Given the description of an element on the screen output the (x, y) to click on. 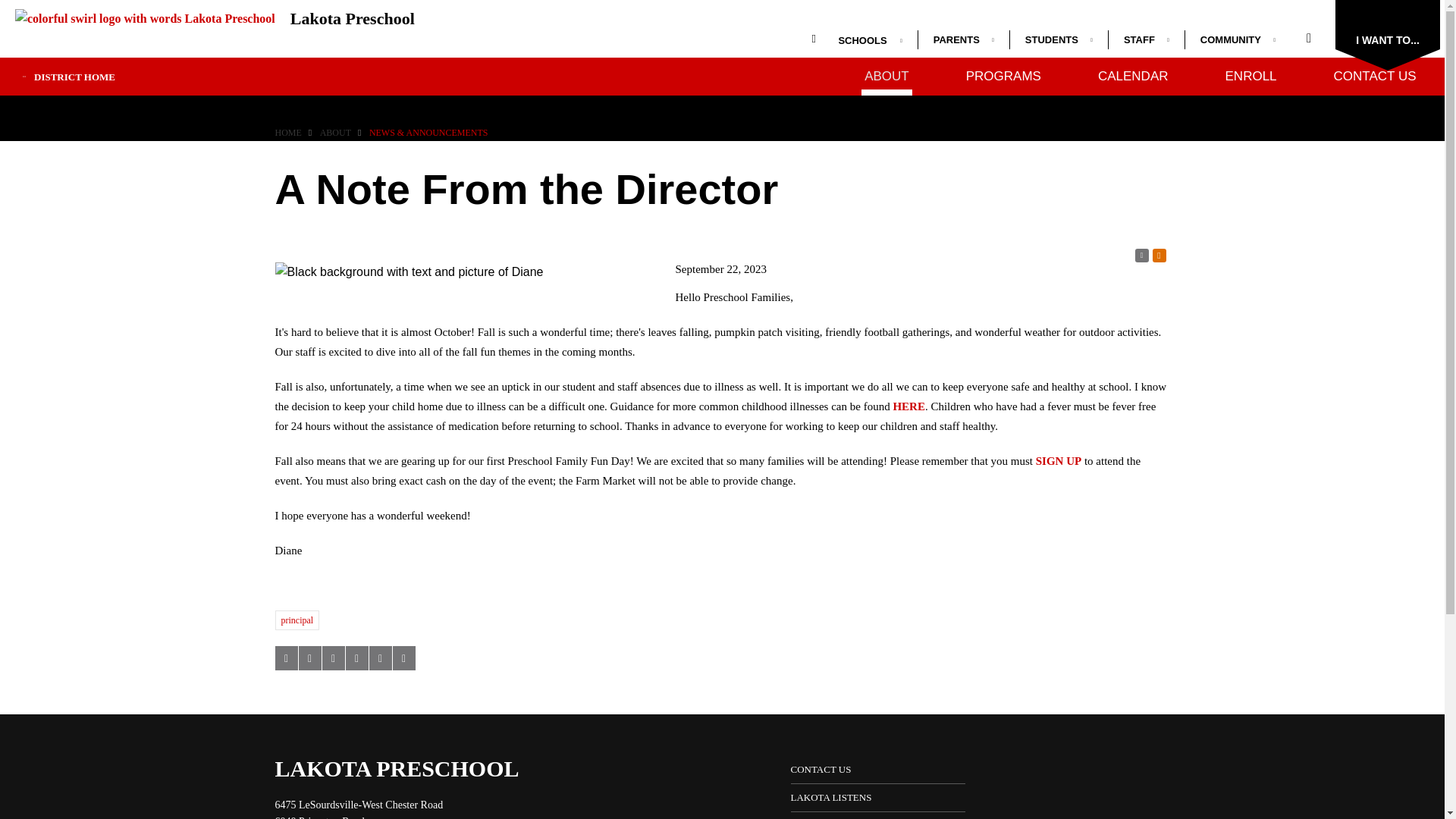
Share to LinkedIn (332, 658)
Alerts (1159, 255)
RSS (1141, 255)
Share to Pinterest (357, 658)
Share to Email (379, 658)
Print this page (403, 658)
Share to Facebook (286, 658)
Share to Twitter (309, 658)
